Given the description of an element on the screen output the (x, y) to click on. 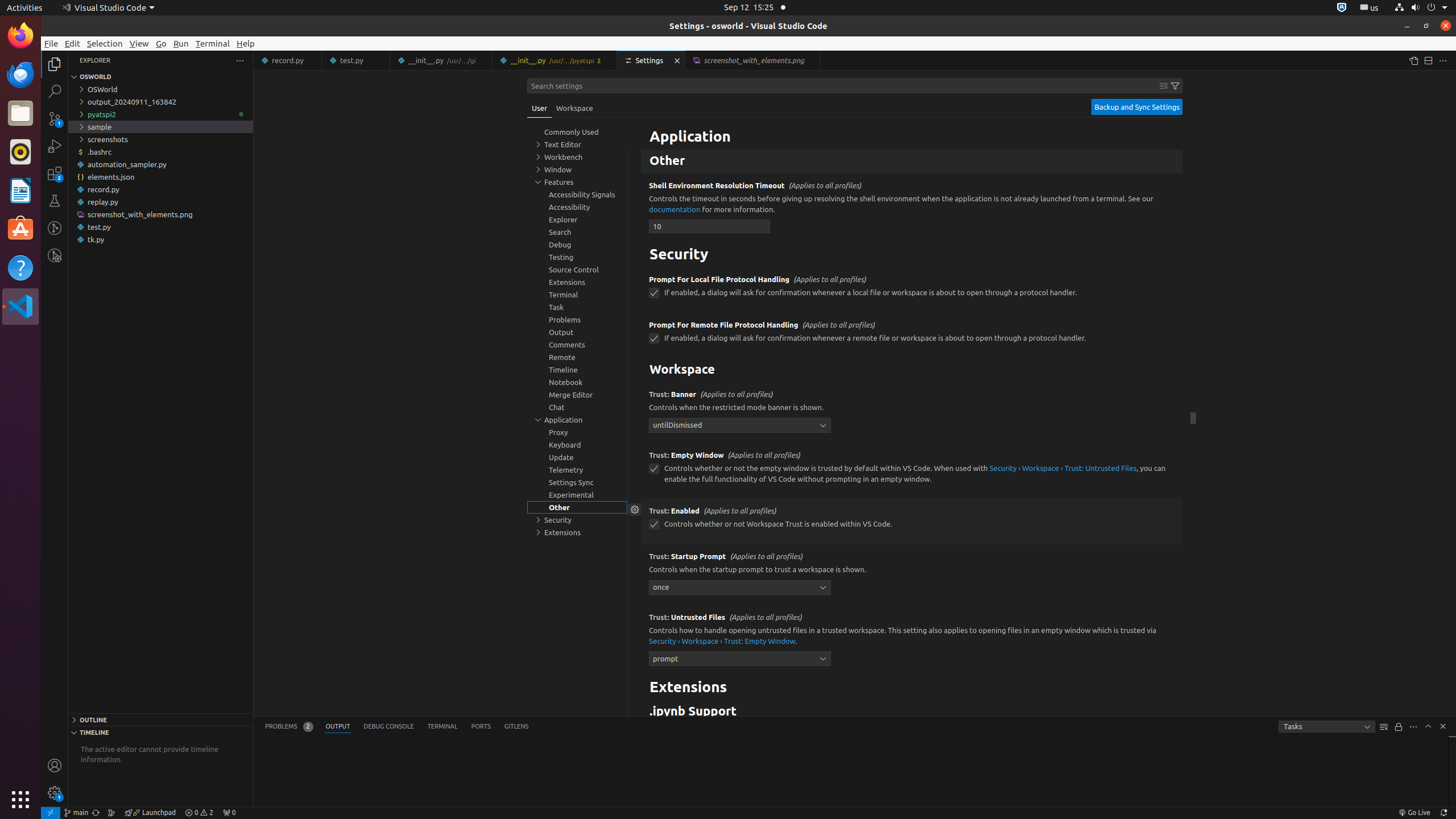
Run Element type: push-button (181, 43)
pyatspi2 Element type: tree-item (160, 114)
Manage - New Code update available. Element type: push-button (54, 792)
Workspace Element type: check-box (574, 107)
Commonly Used, group Element type: tree-item (577, 131)
